Given the description of an element on the screen output the (x, y) to click on. 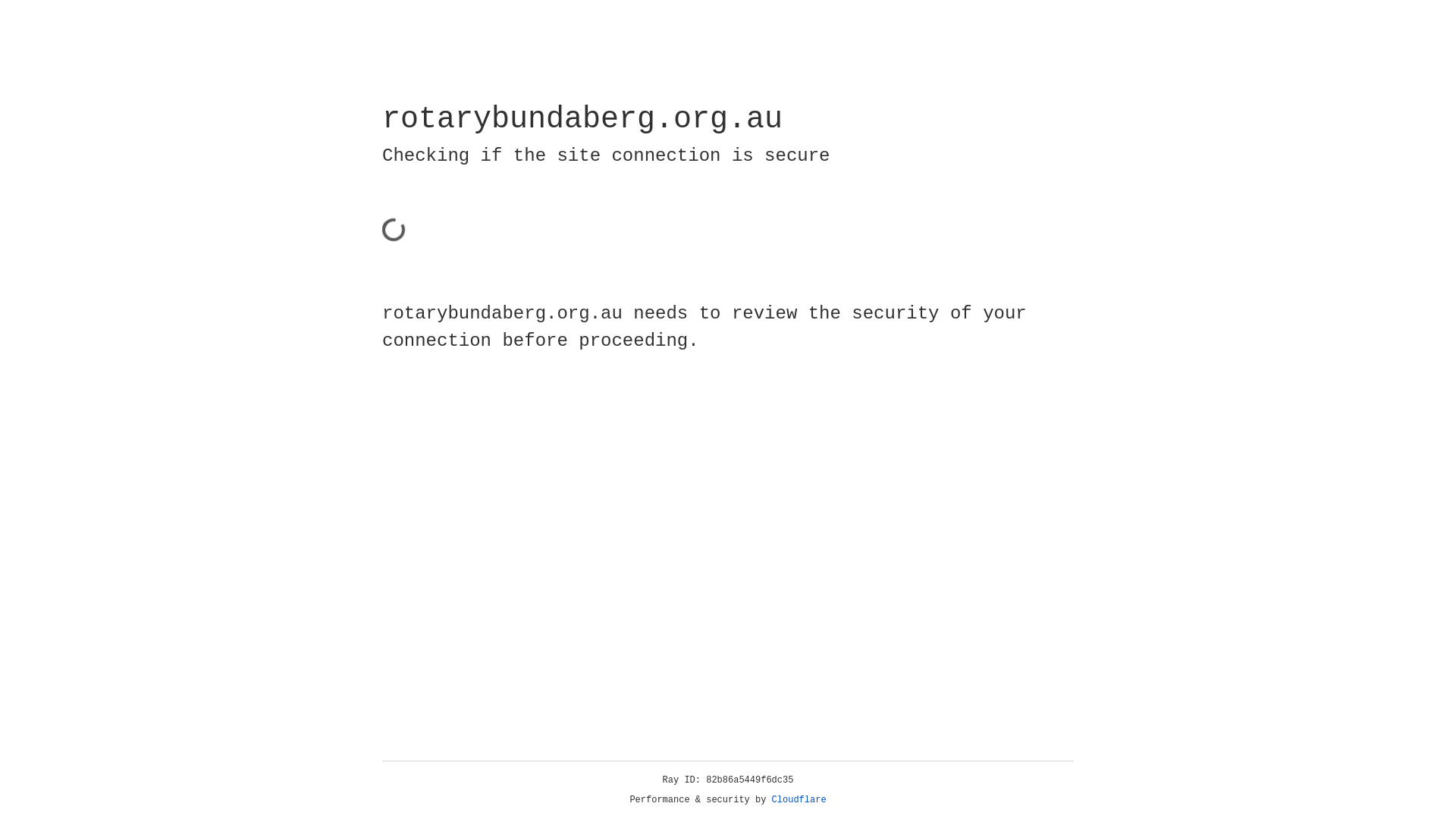
Cloudflare Element type: text (798, 799)
